Given the description of an element on the screen output the (x, y) to click on. 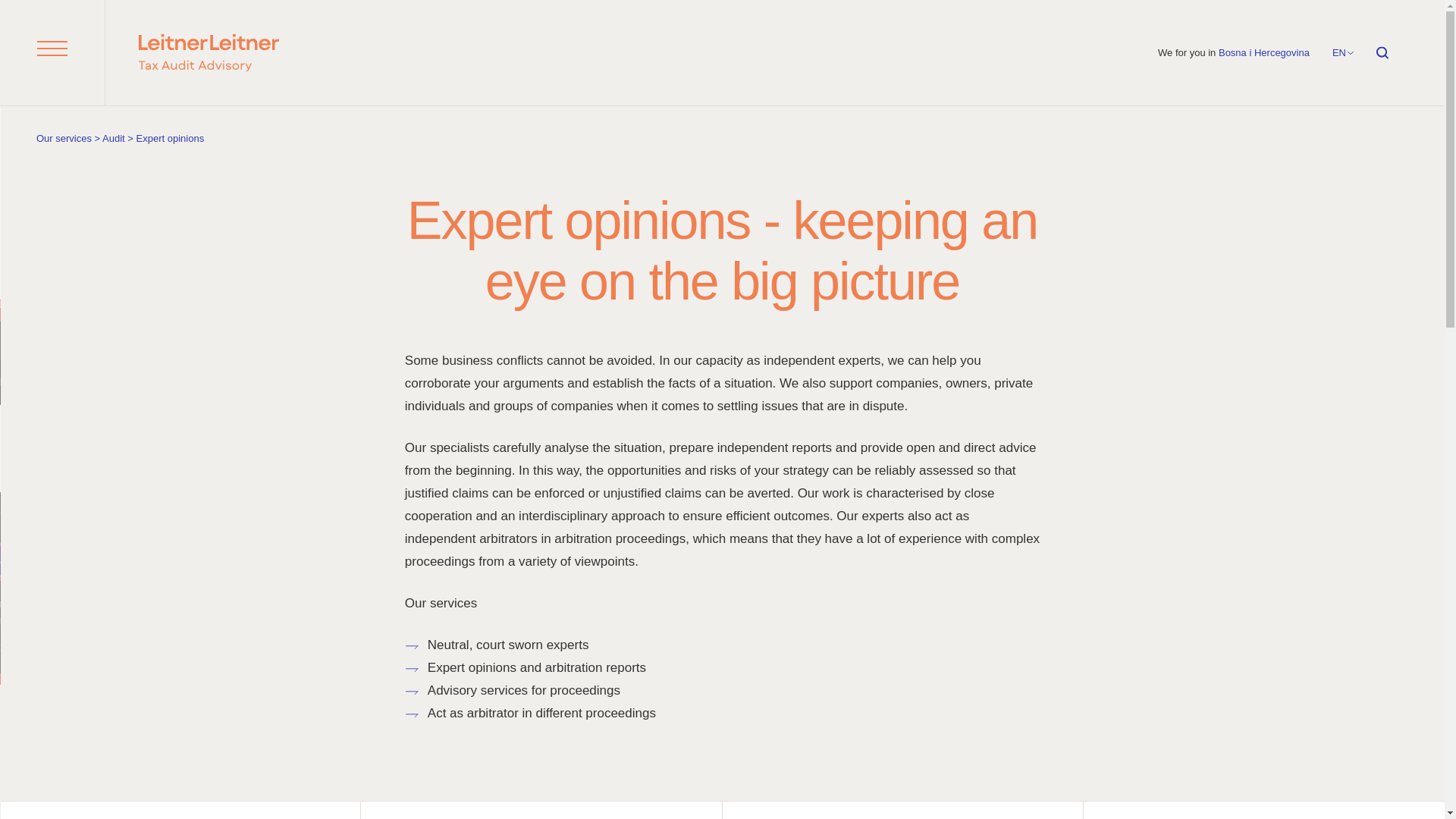
Our services (63, 138)
Audit (113, 138)
website (208, 53)
